Given the description of an element on the screen output the (x, y) to click on. 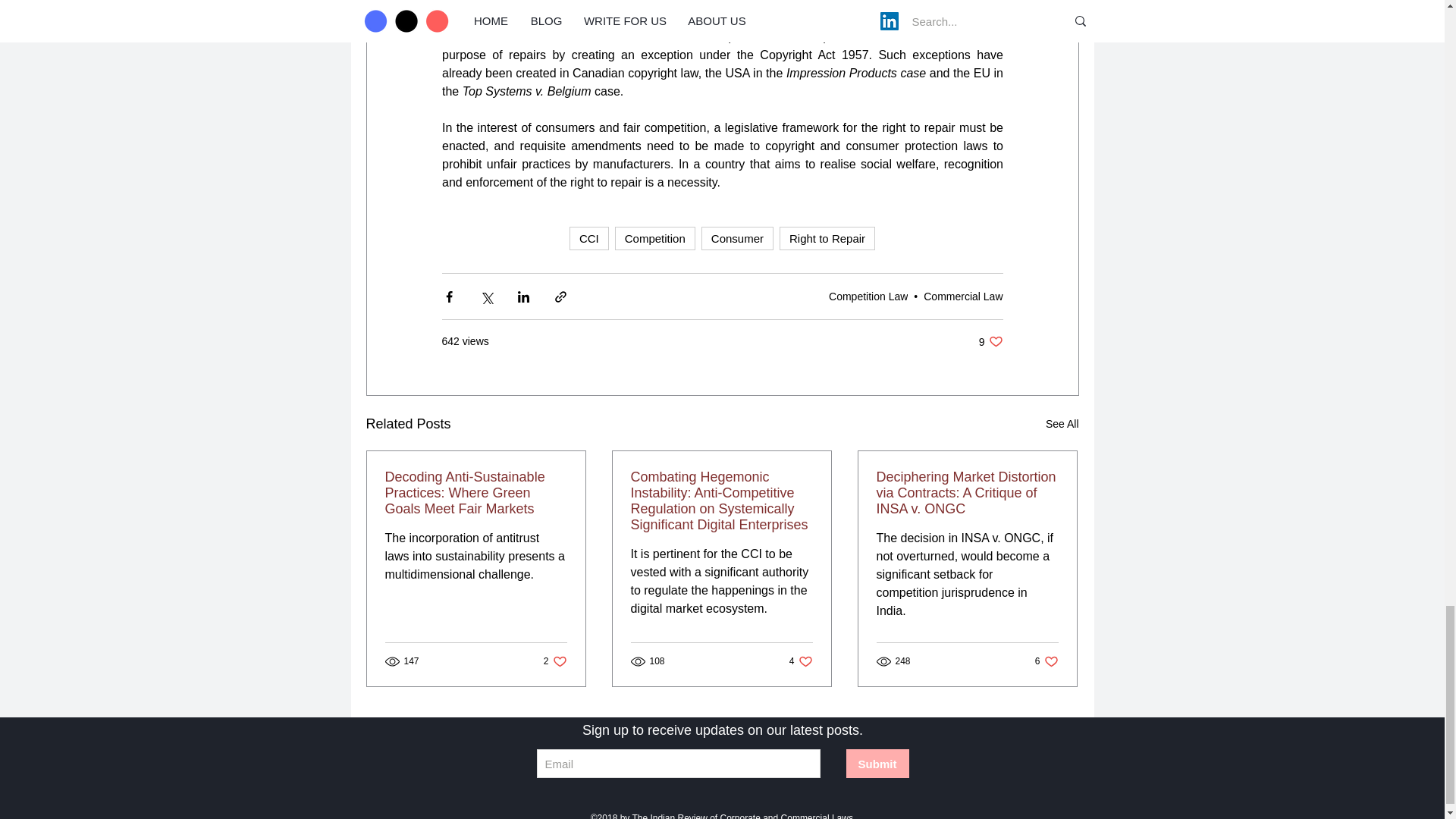
CCI (588, 238)
Competition Law (867, 295)
Competition (654, 238)
Consumer (737, 238)
Commercial Law (963, 295)
Right to Repair (826, 238)
